Given the description of an element on the screen output the (x, y) to click on. 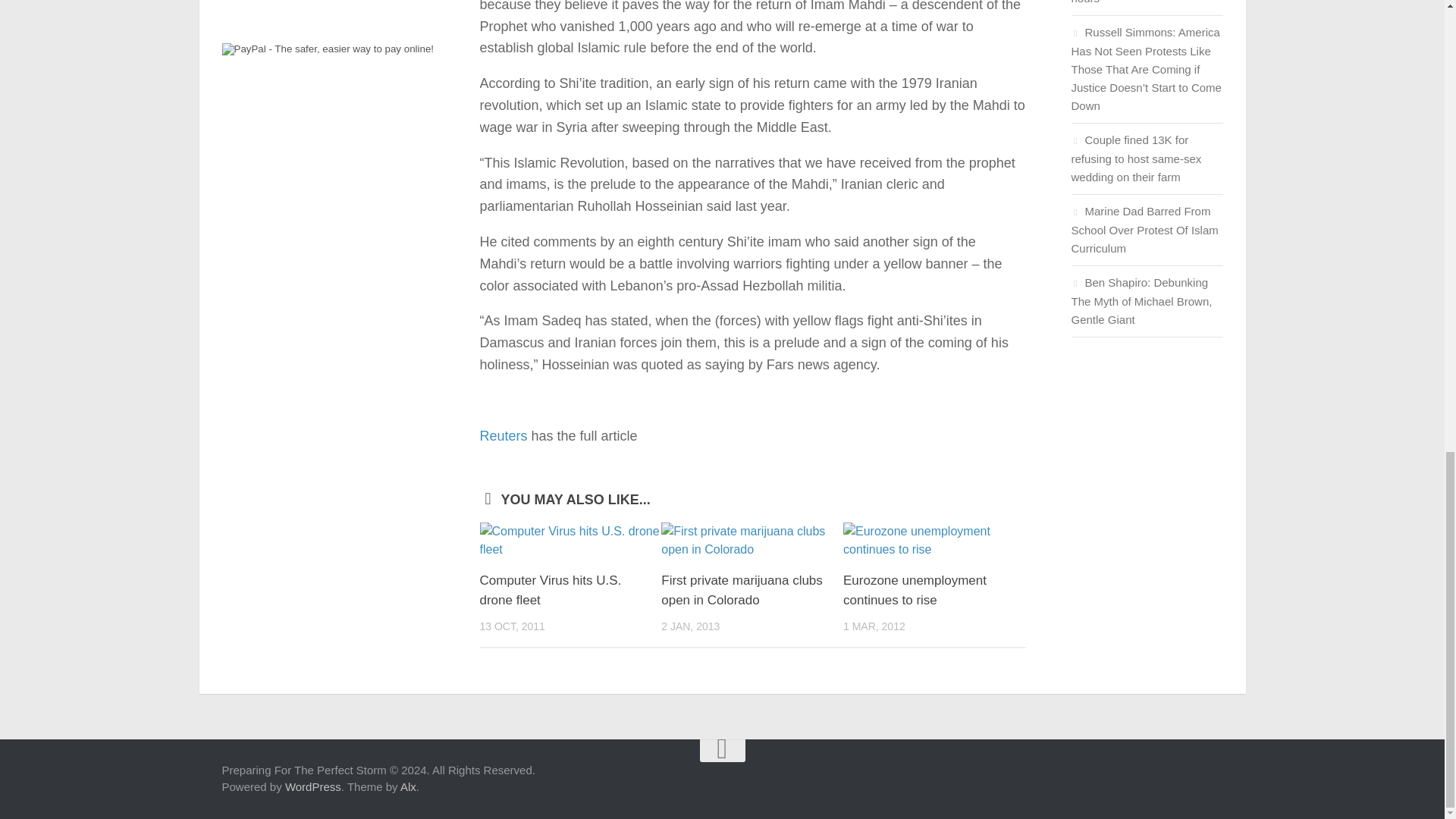
Eurozone unemployment continues to rise (934, 540)
First private marijuana clubs open in Colorado (741, 590)
First private marijuana clubs open in Colorado (752, 540)
Eurozone unemployment continues to rise (915, 590)
Computer Virus hits U.S. drone fleet (570, 540)
Computer Virus hits U.S. drone fleet (550, 590)
